Given the description of an element on the screen output the (x, y) to click on. 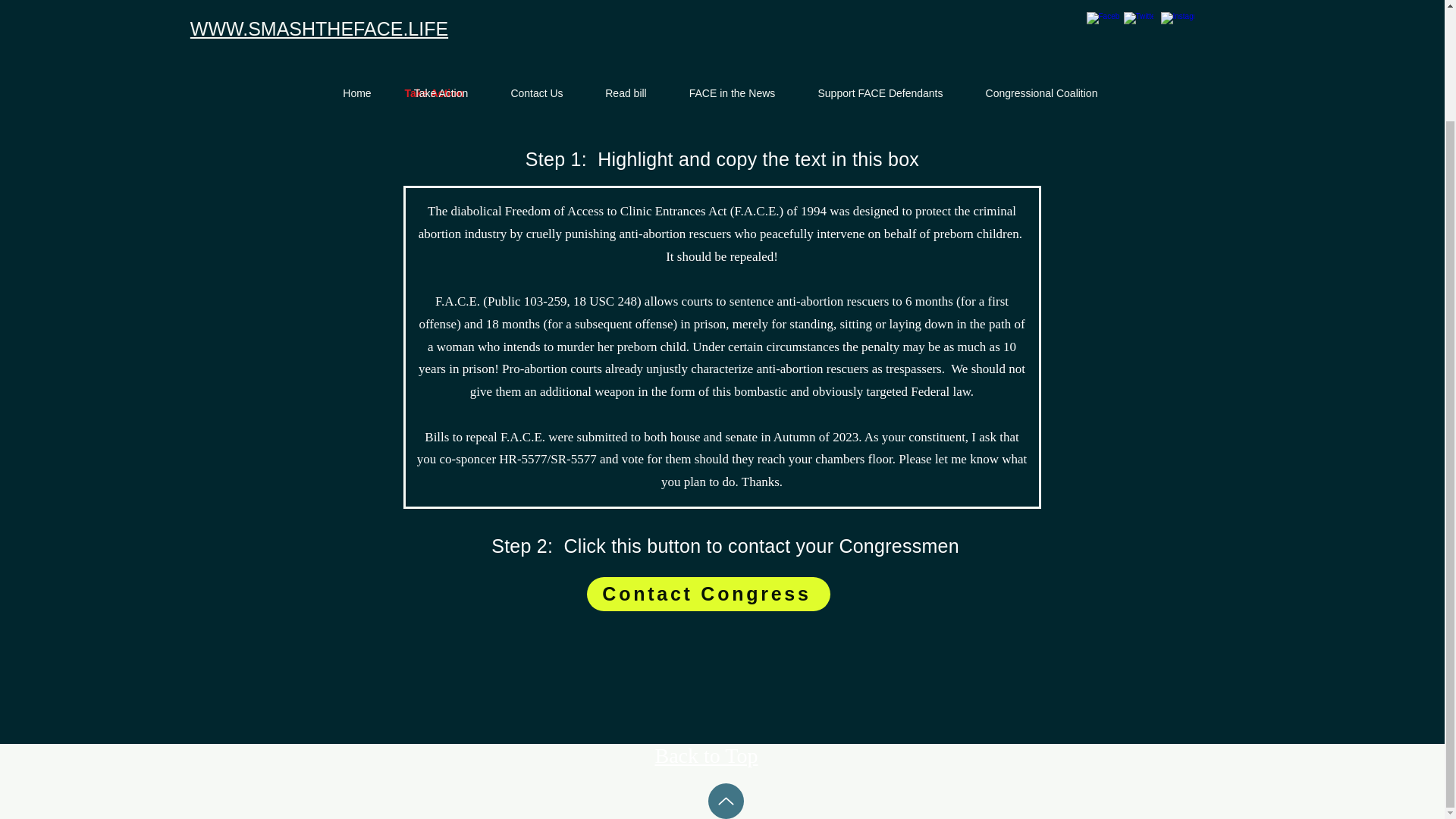
Back to Top (706, 755)
Contact Congress (707, 593)
